Given the description of an element on the screen output the (x, y) to click on. 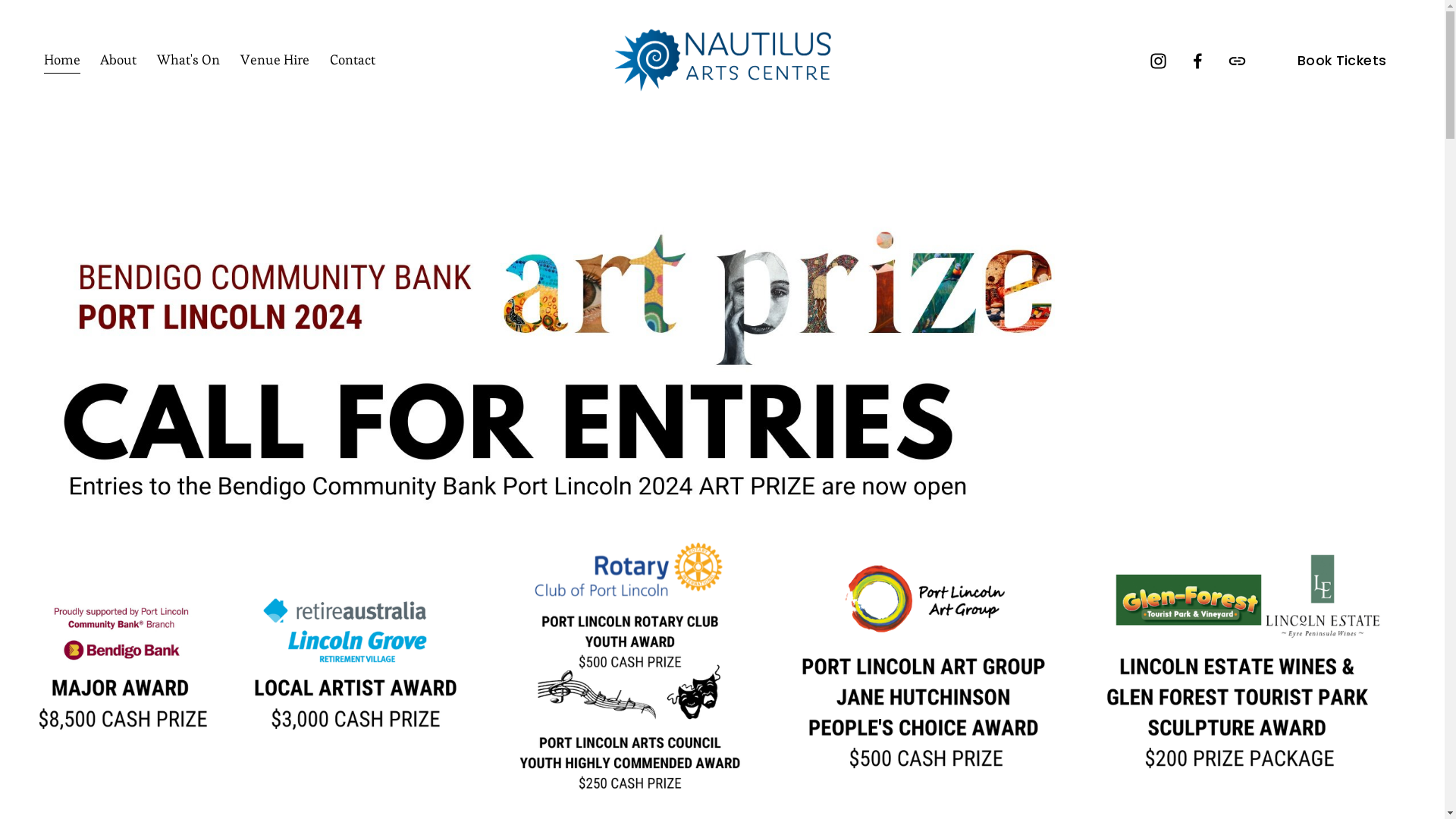
About Element type: text (118, 60)
Contact Element type: text (352, 60)
Home Element type: text (61, 60)
Book Tickets Element type: text (1342, 60)
What's On Element type: text (187, 60)
Venue Hire Element type: text (274, 60)
